Given the description of an element on the screen output the (x, y) to click on. 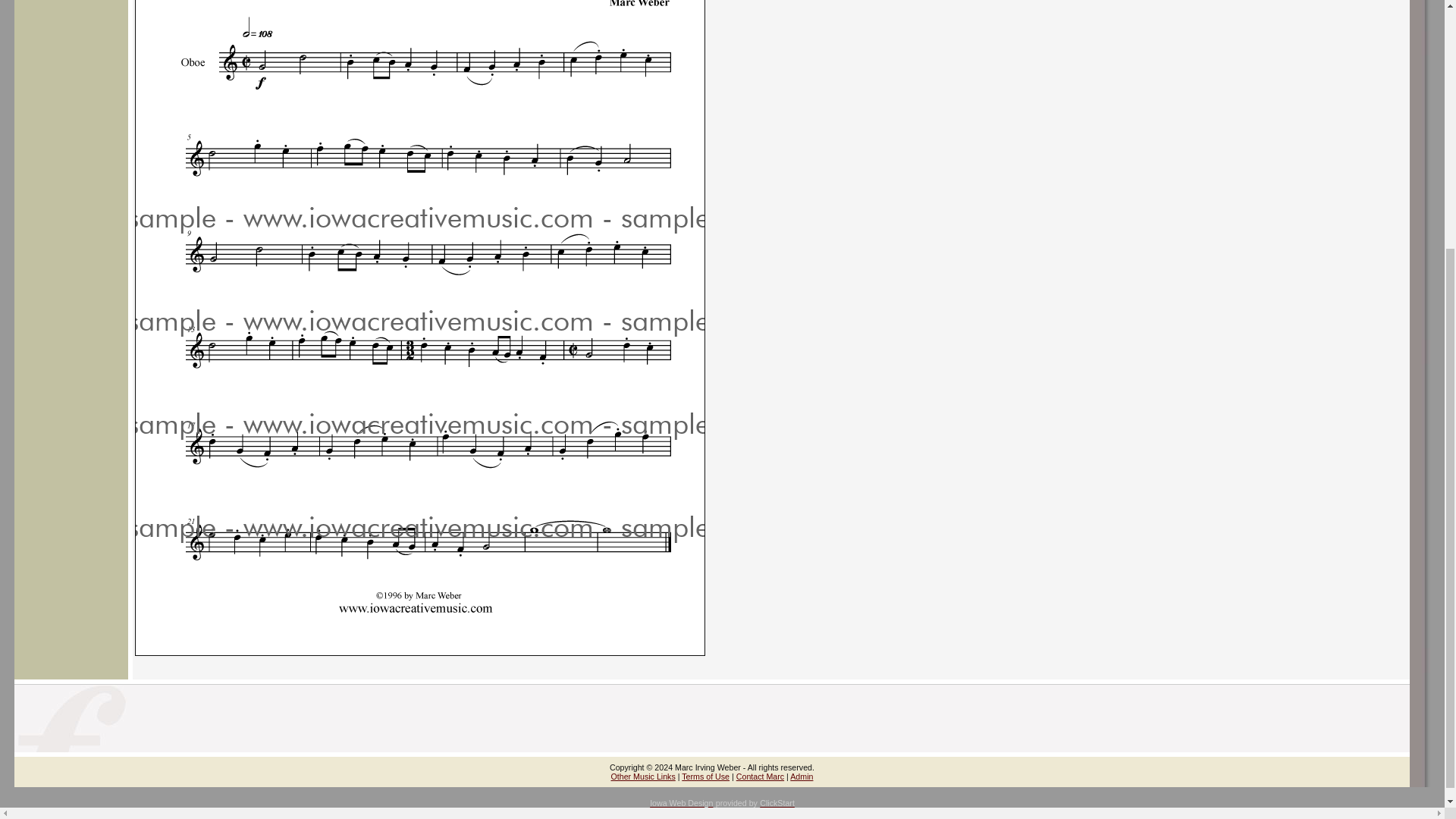
Other Music Links (643, 776)
Terms of Use (705, 776)
Admin (801, 776)
ClickStart (777, 802)
Iowa Web Design (681, 802)
Contact Marc (760, 776)
